Given the description of an element on the screen output the (x, y) to click on. 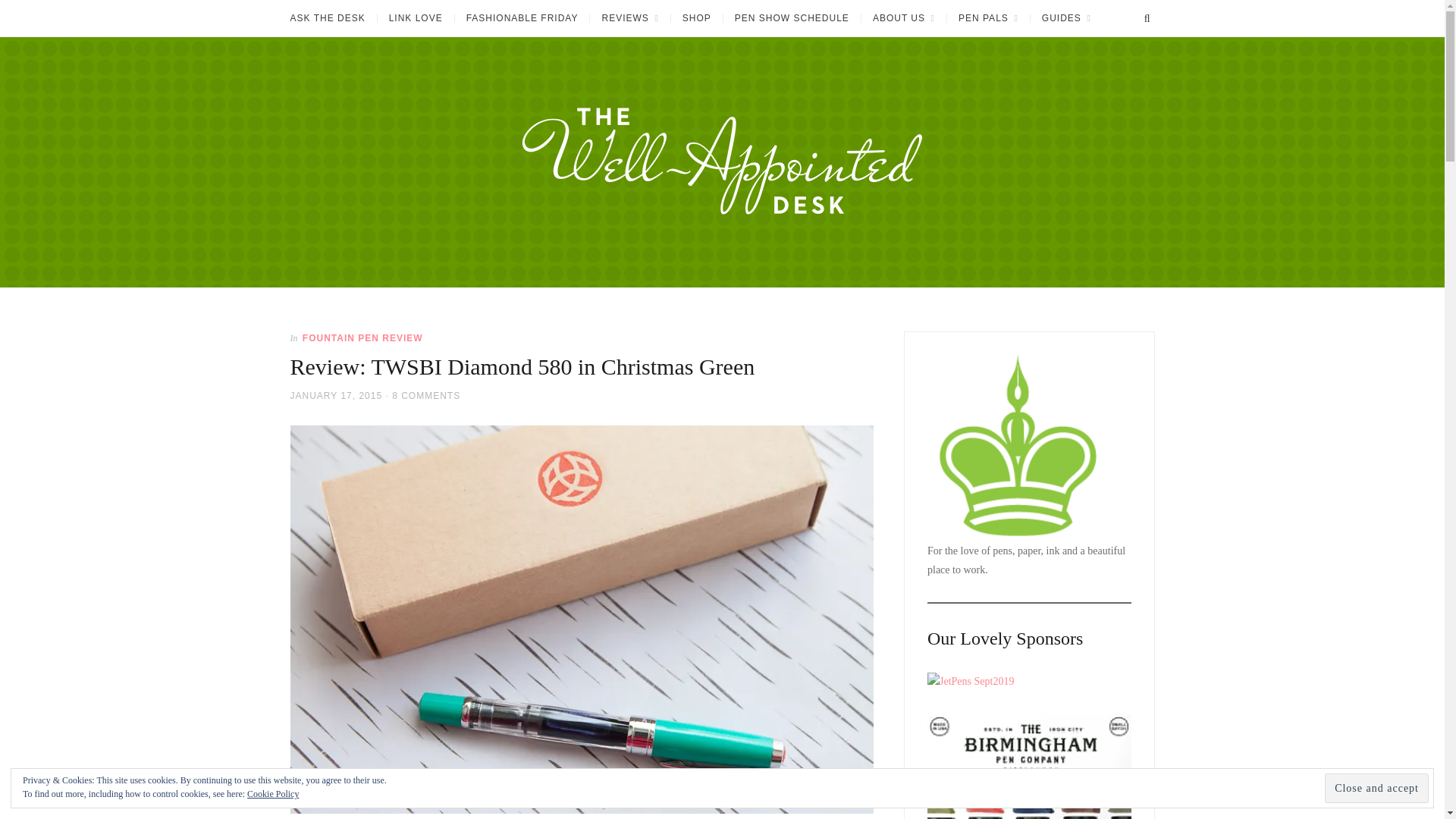
FASHIONABLE FRIDAY (521, 17)
PEN SHOW SCHEDULE (791, 17)
SHOP (695, 17)
ASK THE DESK (332, 17)
PEN PALS (987, 17)
SEARCH (1147, 17)
The Well-Appointed Desk (346, 292)
GUIDES (1065, 17)
FOUNTAIN PEN REVIEW (362, 337)
REVIEWS (629, 17)
Close and accept (1376, 788)
JANUARY 17, 2015 (335, 394)
ABOUT US (903, 17)
8 COMMENTS (425, 394)
LINK LOVE (415, 17)
